Given the description of an element on the screen output the (x, y) to click on. 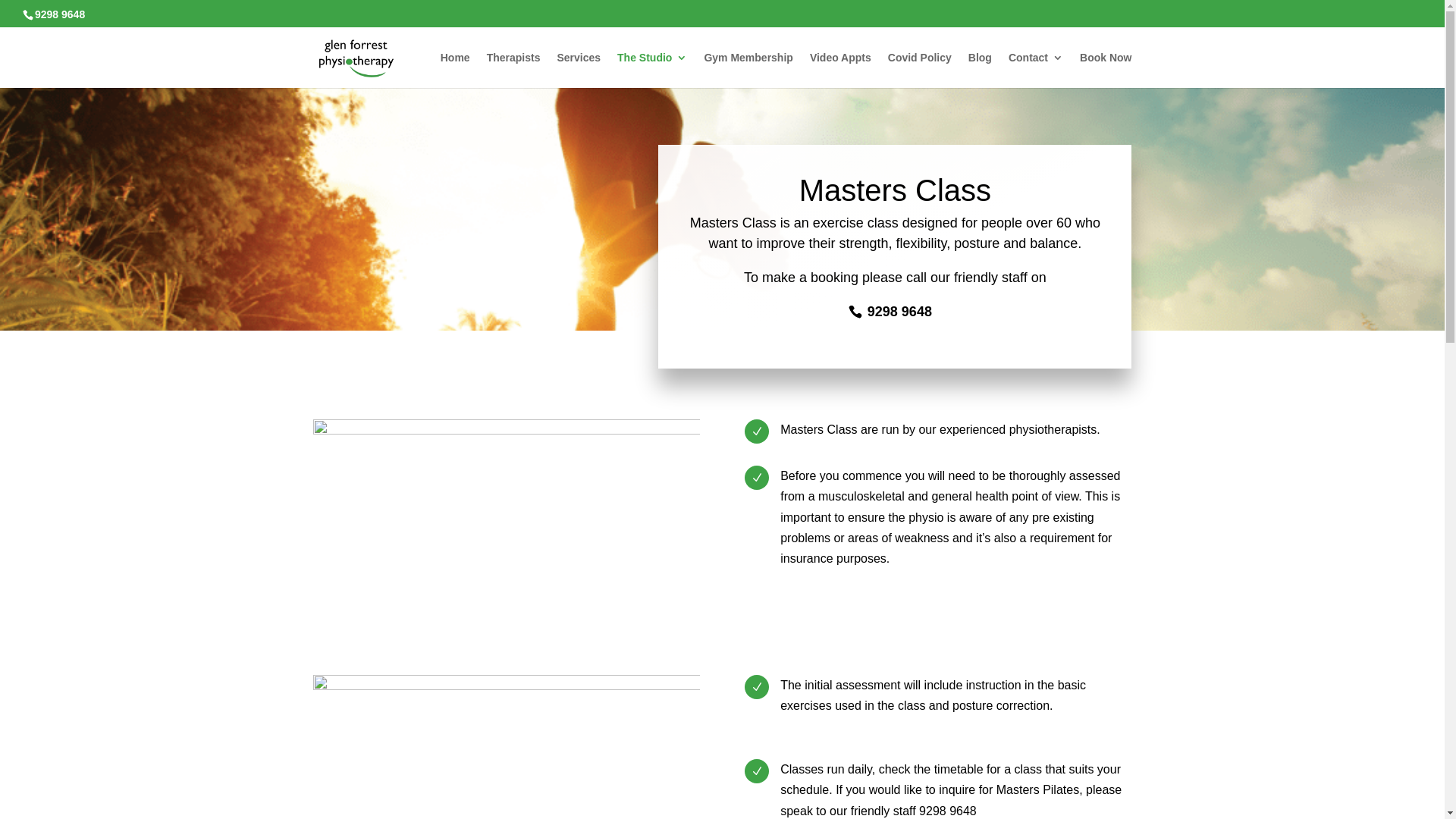
Blog Element type: text (979, 69)
Contact Element type: text (1035, 69)
Services Element type: text (578, 69)
Home Element type: text (455, 69)
Therapists Element type: text (513, 69)
Covid Policy Element type: text (919, 69)
Video Appts Element type: text (840, 69)
Book Now Element type: text (1105, 69)
Gym Membership Element type: text (747, 69)
The Studio Element type: text (652, 69)
